Given the description of an element on the screen output the (x, y) to click on. 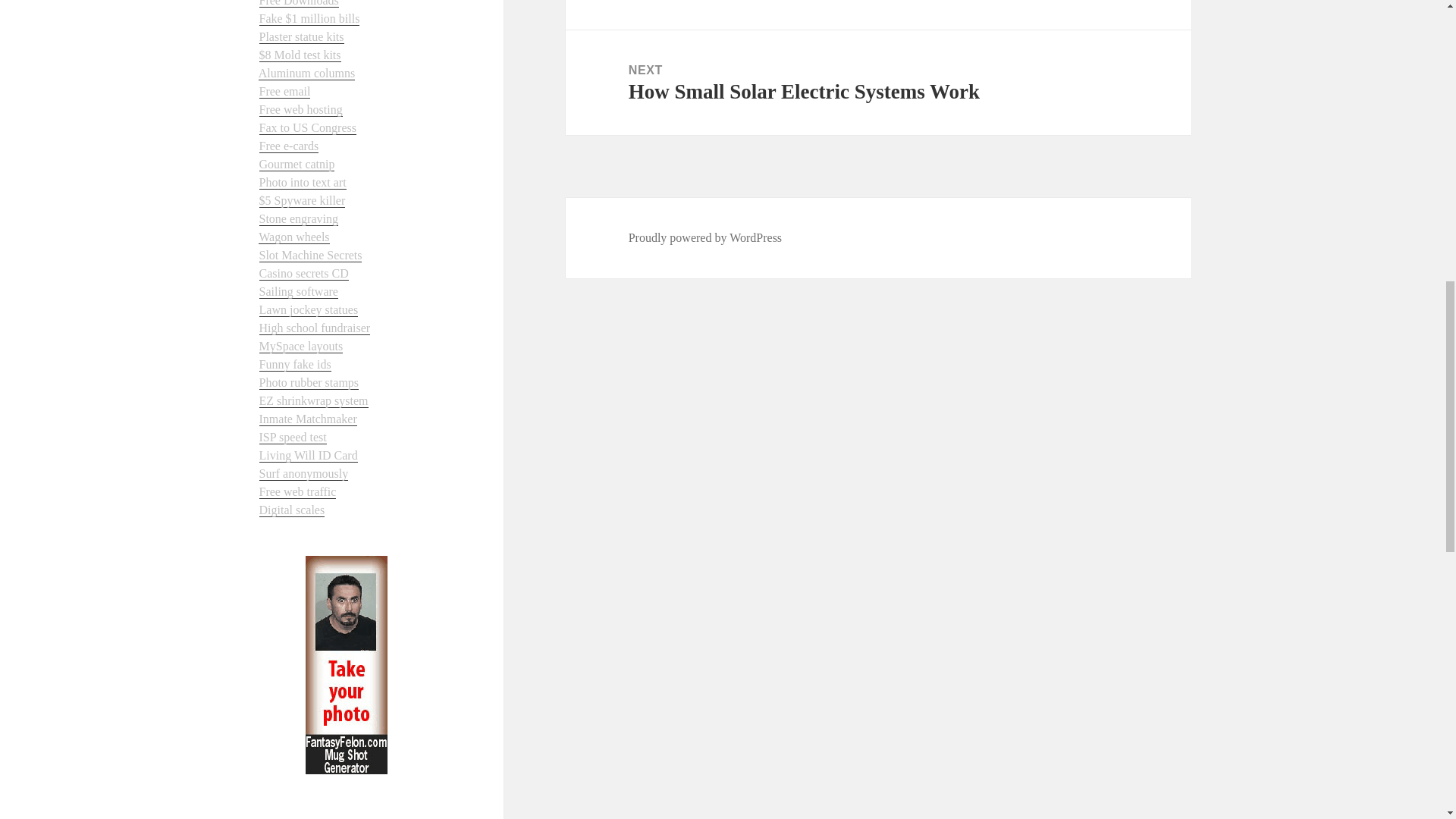
Lawn jockey statues (308, 309)
Free email (285, 91)
Wagon wheels (294, 237)
Sailing software (298, 291)
Free e-cards (288, 146)
Photo into text art (302, 182)
Gourmet catnip (296, 164)
Fax to US Congress (307, 128)
Casino secrets CD (304, 273)
Aluminum columns (307, 73)
Free Downloads (299, 3)
Free web hosting (300, 110)
Stone engraving (298, 219)
High school fundraiser (315, 327)
Slot Machine Secrets (310, 255)
